Given the description of an element on the screen output the (x, y) to click on. 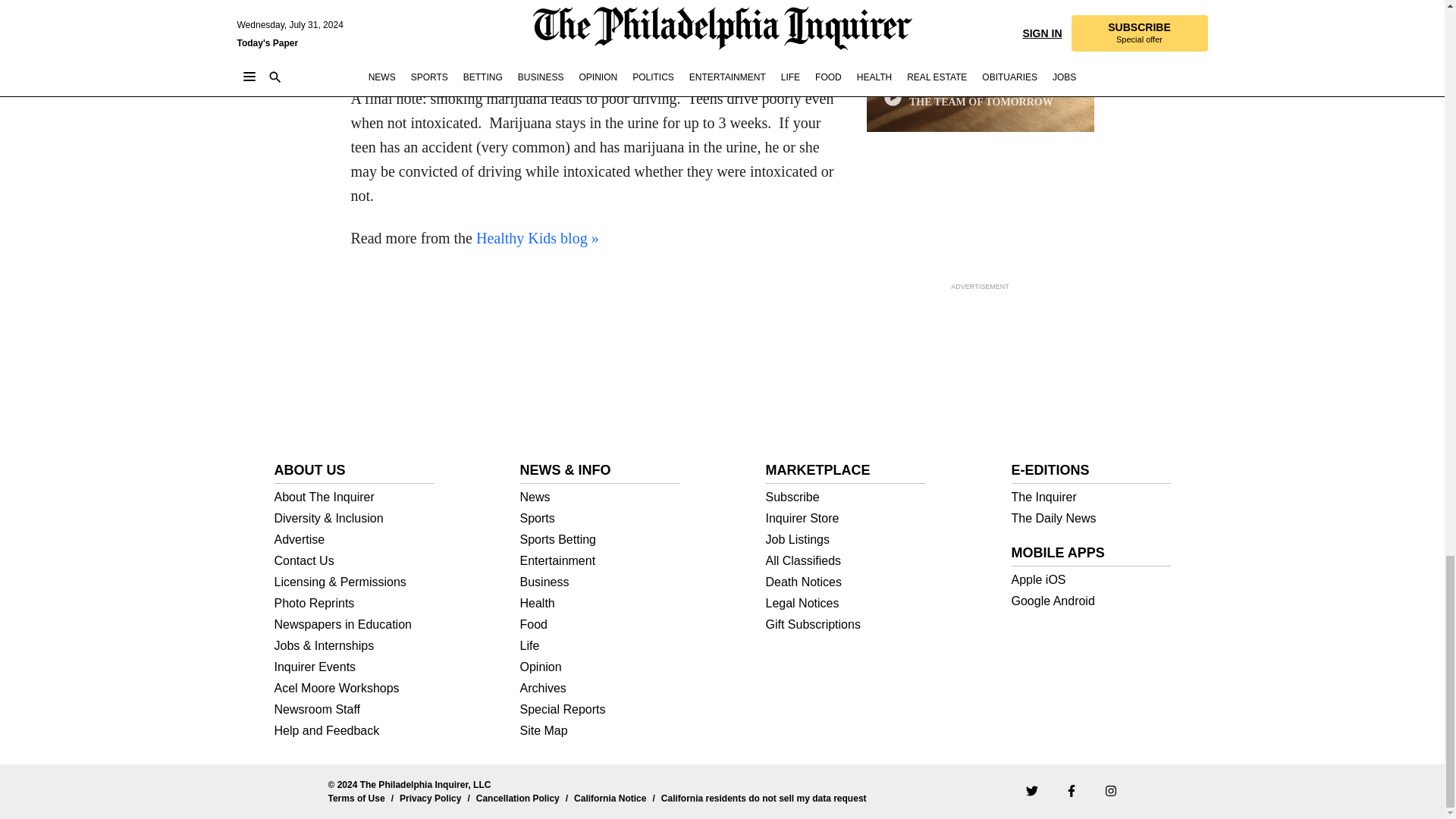
Twitter (1030, 789)
Instagram (1109, 789)
Facebook (1070, 789)
Advertise (354, 539)
Contact Us (354, 561)
About The Inquirer (354, 497)
